Given the description of an element on the screen output the (x, y) to click on. 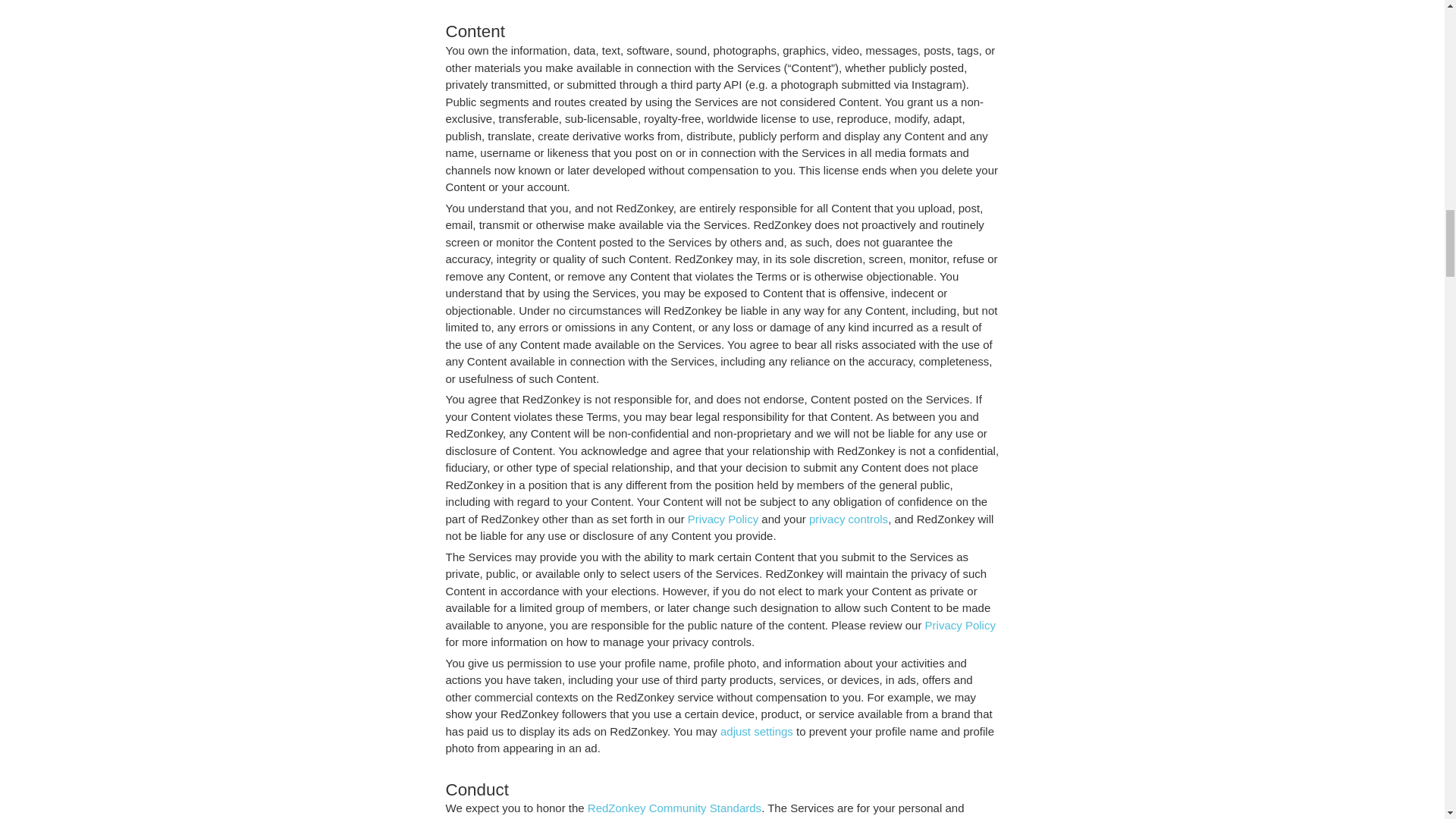
adjust settings (756, 730)
Privacy Policy (959, 625)
Privacy Policy (722, 518)
RedZonkey Community Standards (674, 807)
privacy controls (848, 518)
